Given the description of an element on the screen output the (x, y) to click on. 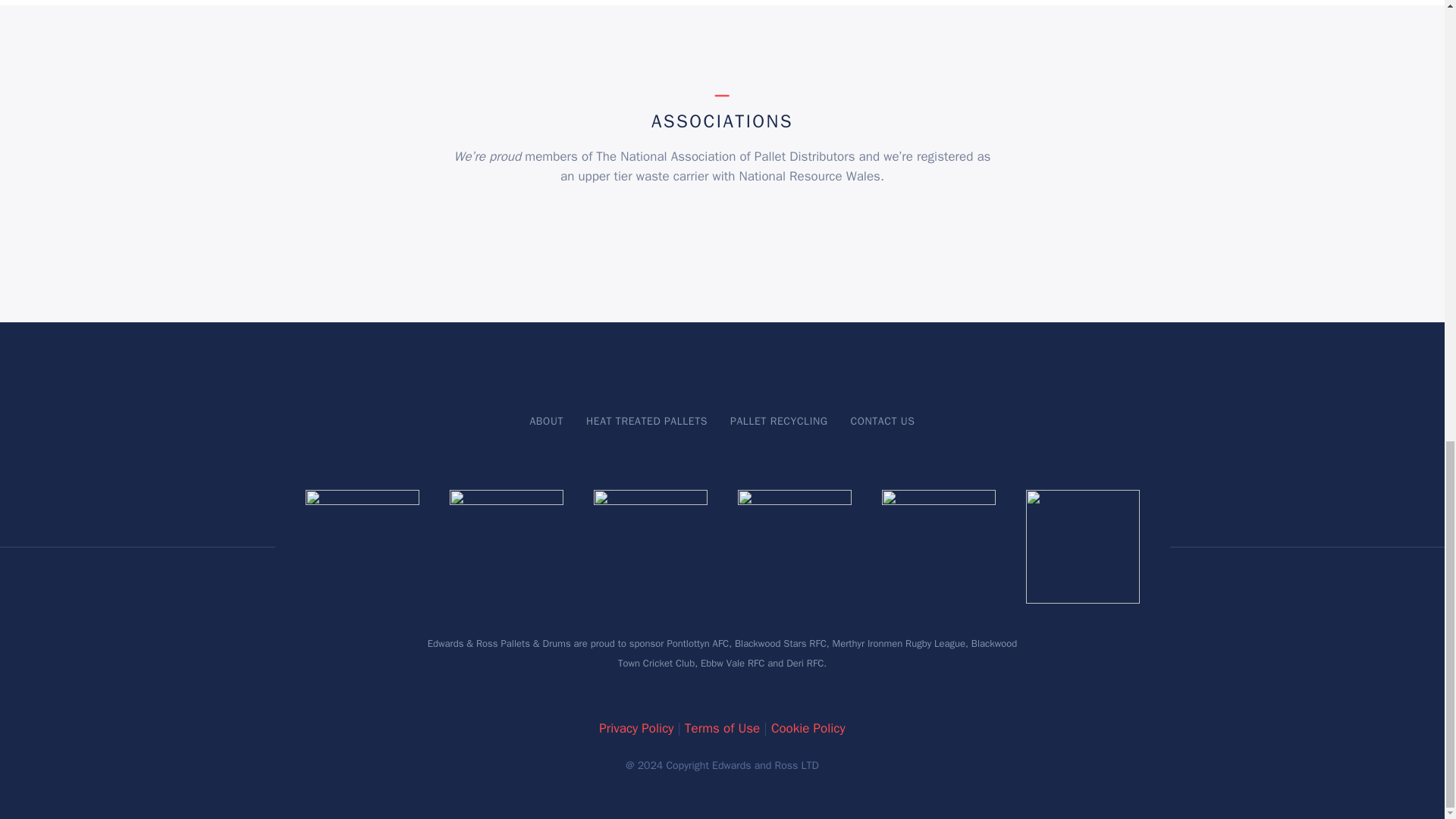
Privacy Policy (635, 728)
HEAT TREATED PALLETS (646, 420)
PALLET RECYCLING (778, 420)
Terms of Use (722, 728)
CONTACT US (882, 420)
Cookie Policy (808, 728)
ABOUT (546, 420)
